Given the description of an element on the screen output the (x, y) to click on. 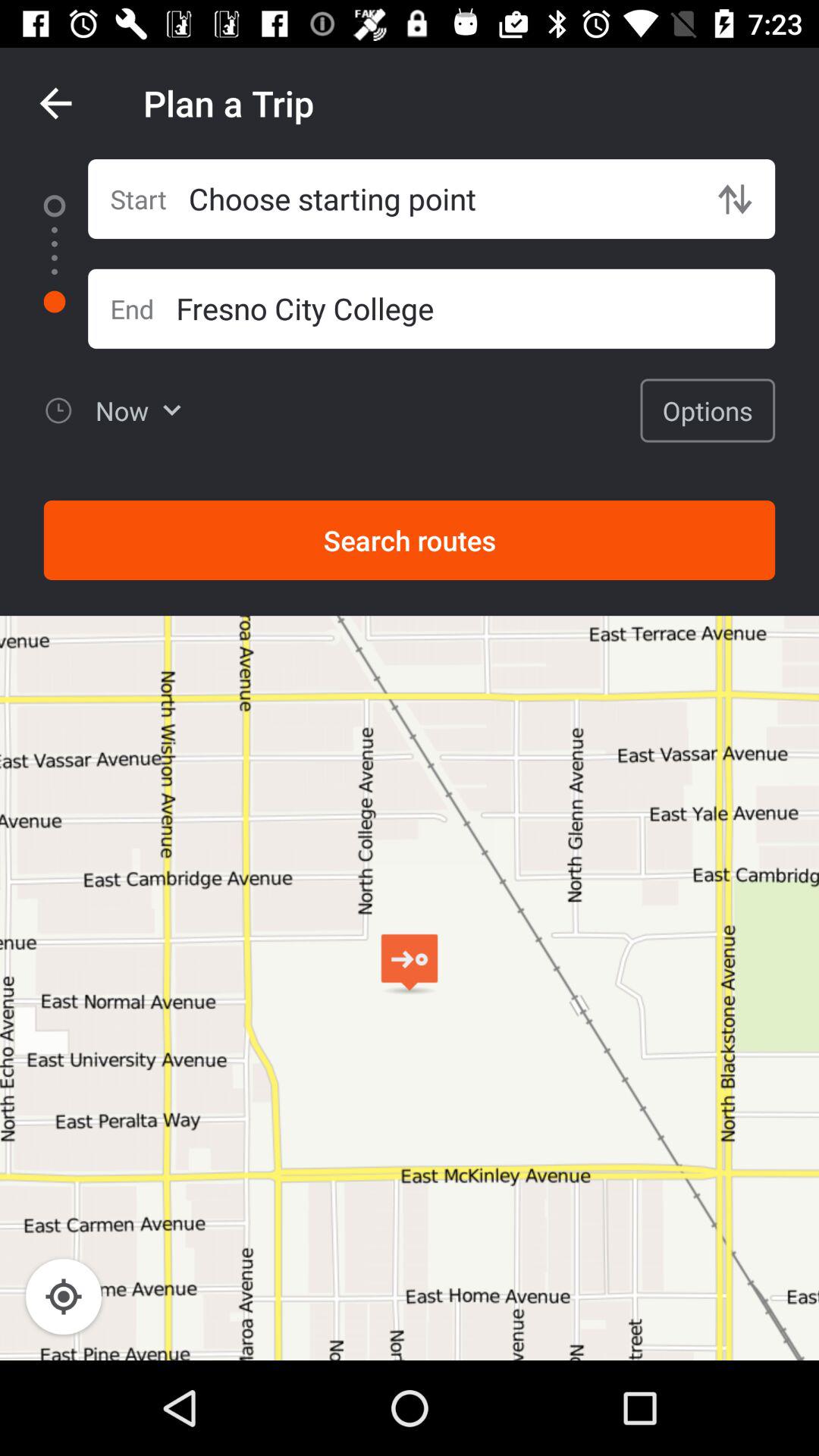
press the item below the options item (409, 540)
